Given the description of an element on the screen output the (x, y) to click on. 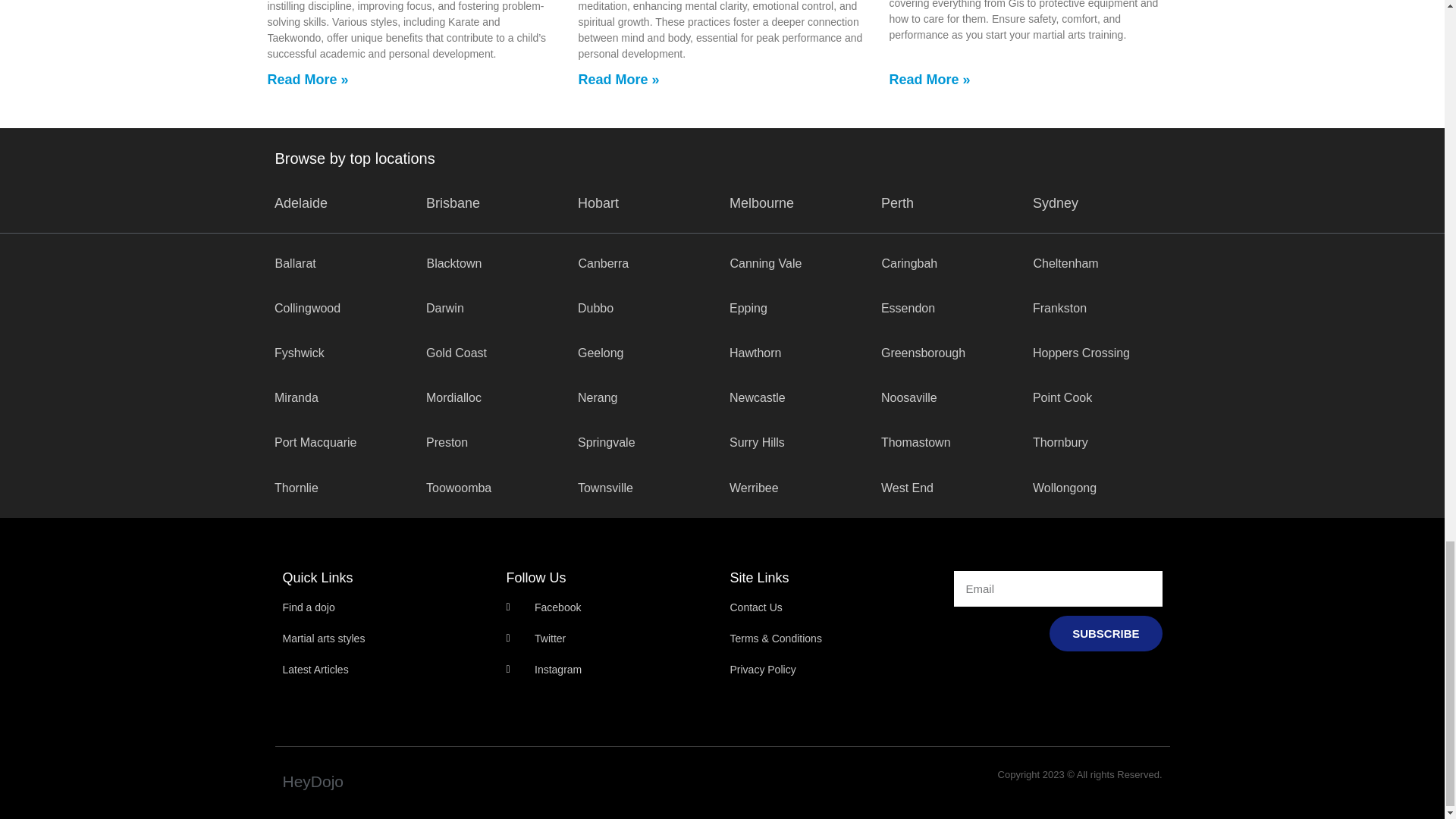
Dojos near Ballarat (295, 263)
Dojos near Blacktown (453, 263)
Dojos near Canning Vale (765, 263)
Dojos near Melbourne (761, 202)
Dojos near Brisbane (453, 202)
Hobart (598, 202)
Adelaide (301, 202)
Dojos near Adelaide (301, 202)
Dojos near Hobart (598, 202)
Melbourne (761, 202)
